Given the description of an element on the screen output the (x, y) to click on. 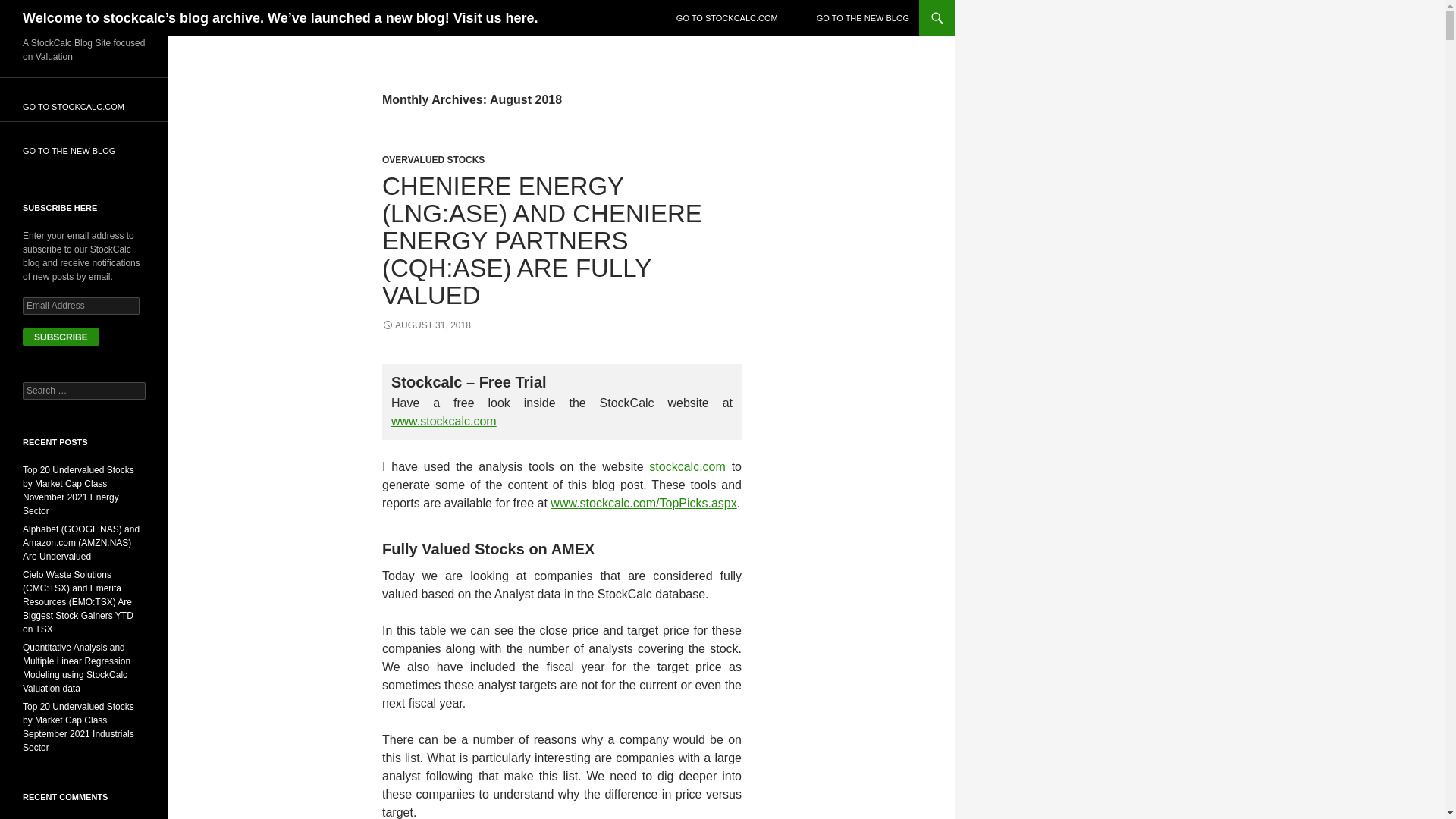
GO TO STOCKCALC.COM (726, 18)
AUGUST 31, 2018 (425, 325)
stockcalc.com (687, 466)
GO TO THE NEW BLOG (863, 18)
OVERVALUED STOCKS (432, 159)
www.stockcalc.com (443, 420)
